Given the description of an element on the screen output the (x, y) to click on. 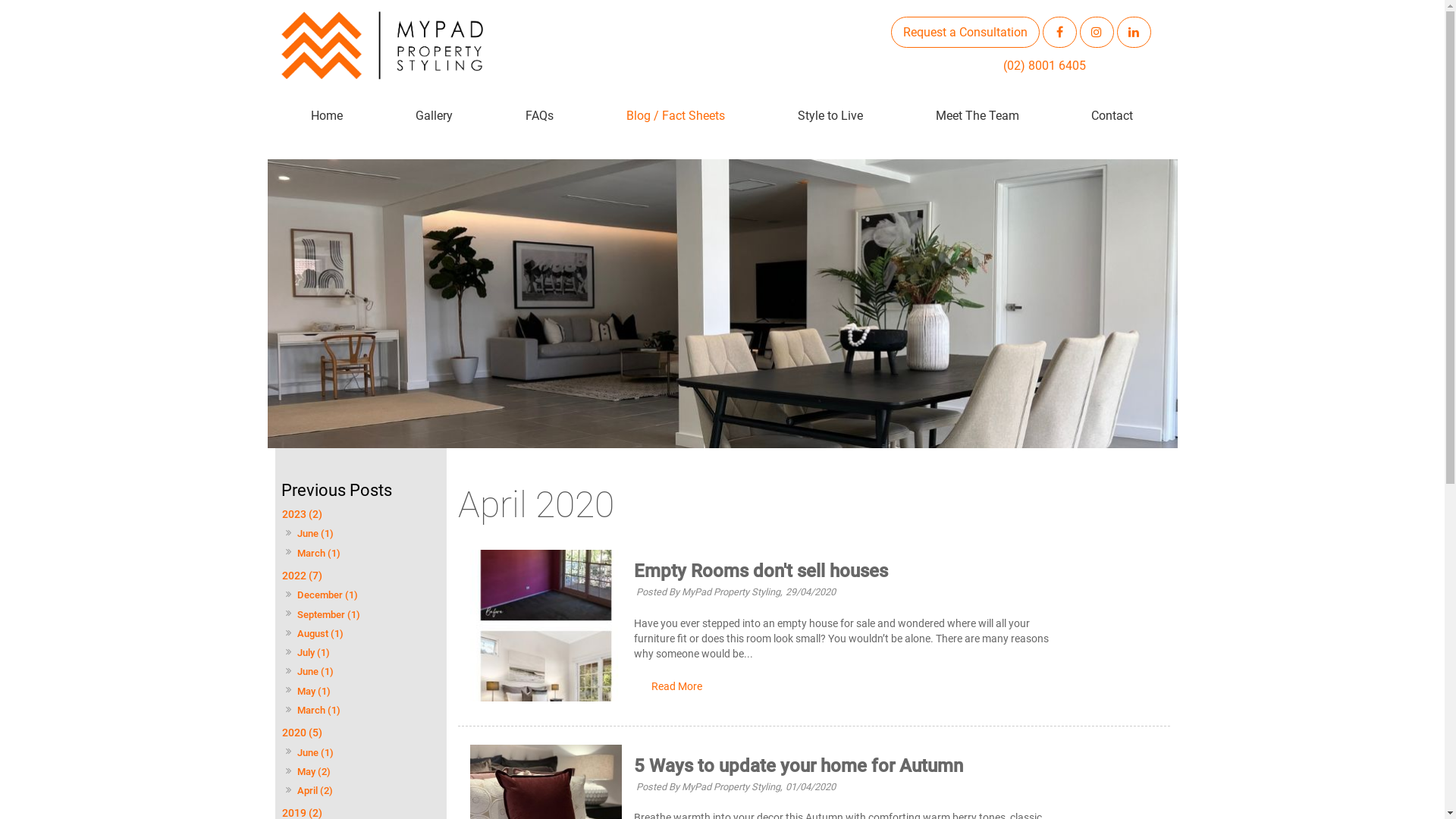
June (1) Element type: text (314, 533)
Meet The Team Element type: text (977, 115)
December (1) Element type: text (326, 595)
June (1) Element type: text (314, 671)
March (1) Element type: text (318, 552)
Gallery Element type: text (433, 115)
Read More Element type: text (676, 686)
2023 (2) Element type: text (359, 515)
July (1) Element type: text (312, 653)
September (1) Element type: text (327, 614)
Blog / Fact Sheets Element type: text (675, 115)
2022 (7) Element type: text (359, 575)
Style to Live Element type: text (830, 115)
Contact Element type: text (1112, 115)
August (1) Element type: text (319, 634)
Read More Element type: text (676, 686)
June (1) Element type: text (314, 752)
Home Element type: text (326, 115)
May (2) Element type: text (313, 772)
March (1) Element type: text (318, 710)
2020 (5) Element type: text (359, 733)
May (1) Element type: text (313, 690)
April (2) Element type: text (314, 791)
Request a Consultation Element type: text (964, 31)
FAQs Element type: text (539, 115)
